Given the description of an element on the screen output the (x, y) to click on. 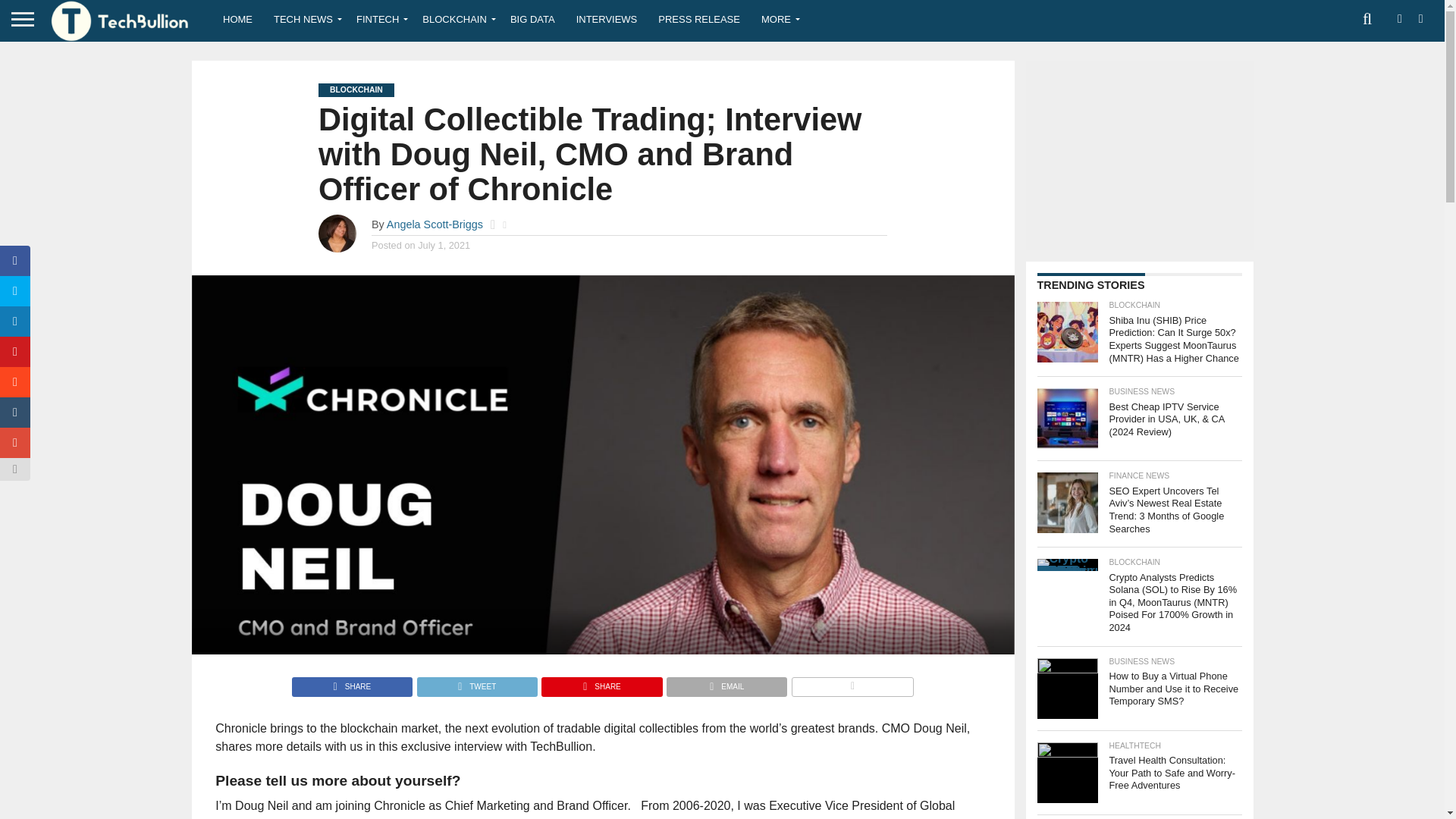
Pin This Post (601, 682)
Tweet This Post (476, 682)
Posts by Angela Scott-Briggs (435, 224)
Share on Facebook (352, 682)
